Given the description of an element on the screen output the (x, y) to click on. 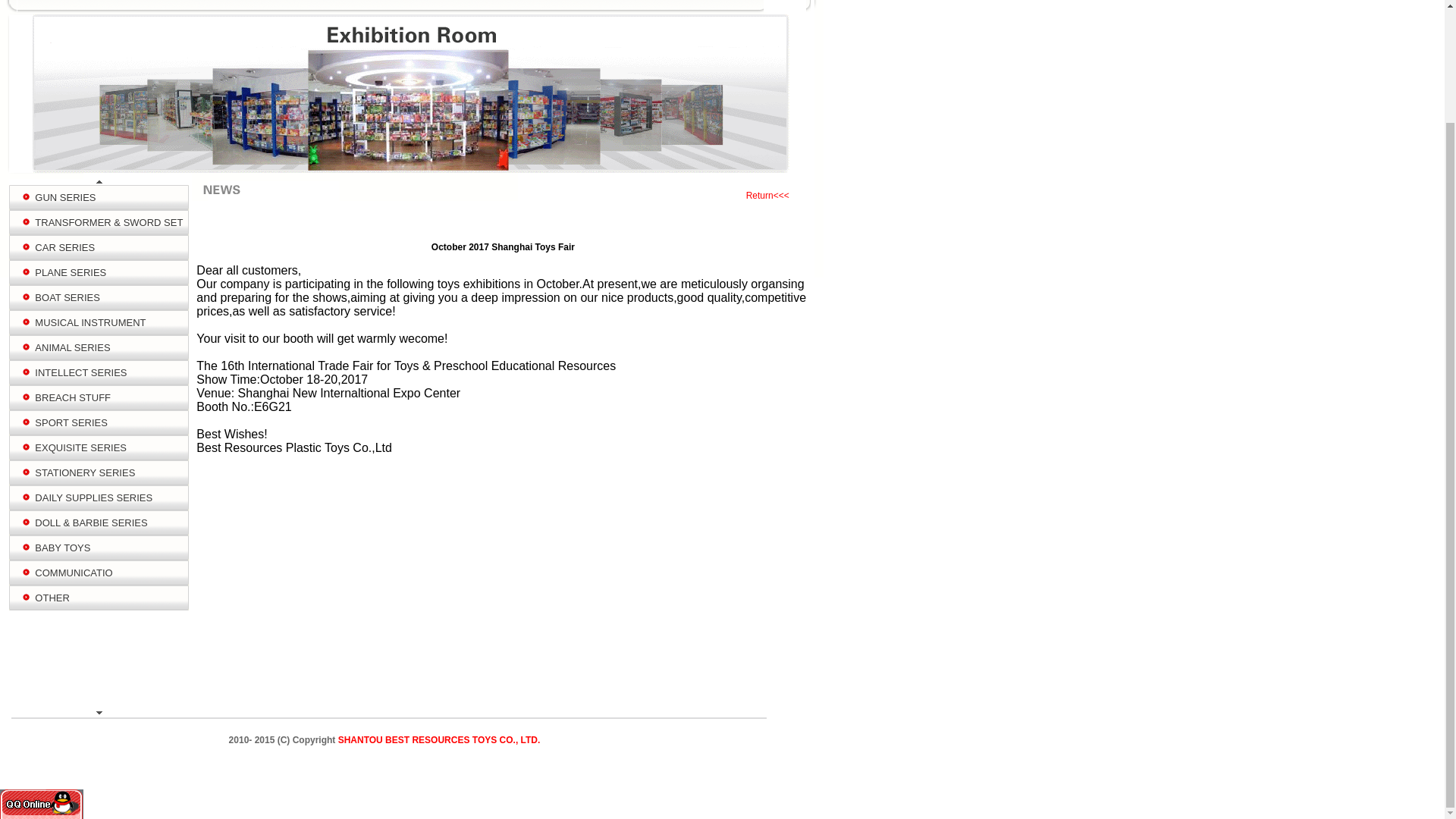
  PLANE SERIES (68, 272)
  CAR SERIES (62, 247)
  GUN SERIES (63, 197)
